Given the description of an element on the screen output the (x, y) to click on. 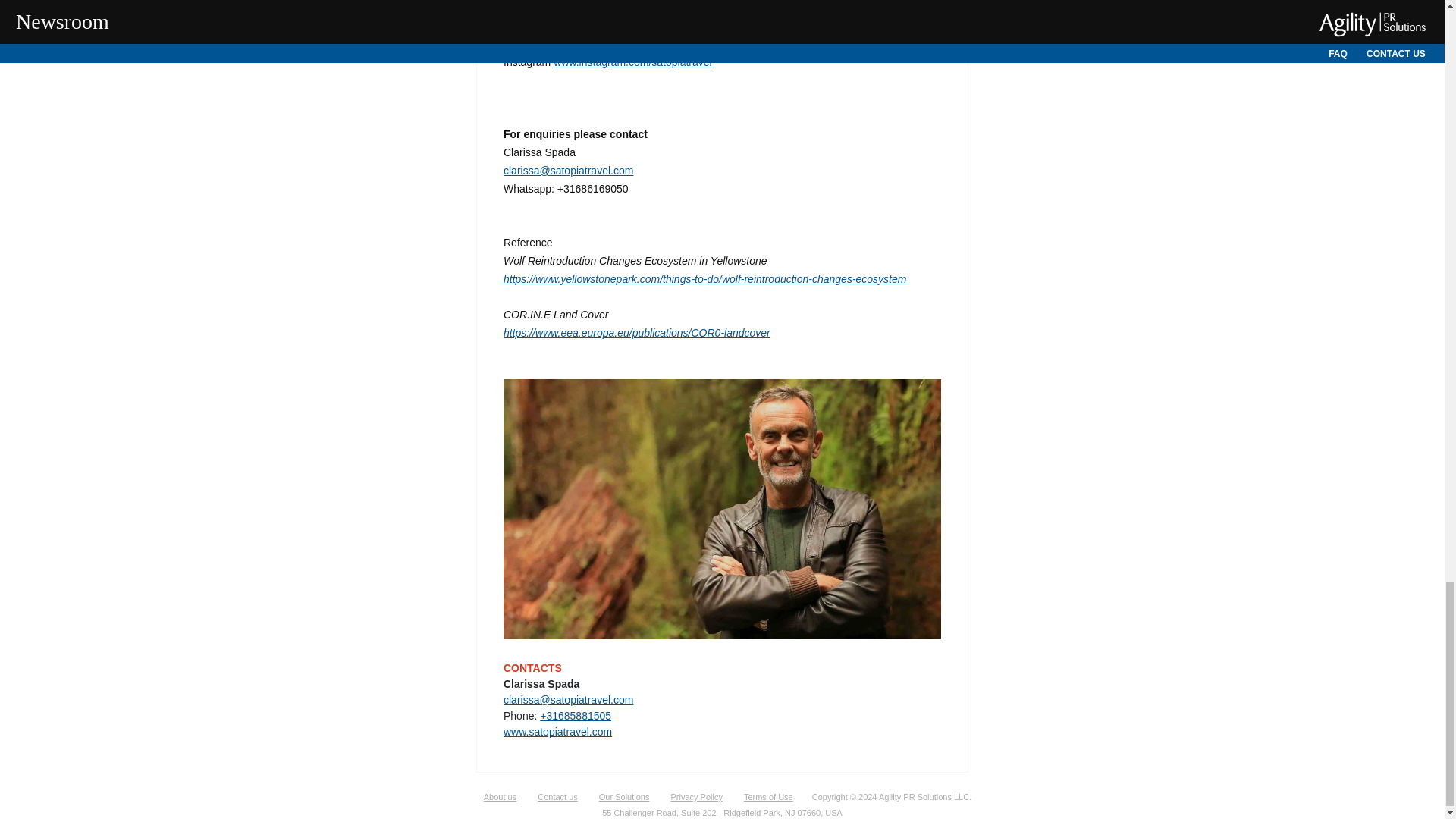
Newsroom - Agility PR Solutions (557, 797)
Terms of Use (768, 797)
Privacy Policy (695, 797)
About us (500, 797)
Our Solutions (624, 797)
Contact us (557, 797)
www.satopiatravel.com (557, 731)
